Given the description of an element on the screen output the (x, y) to click on. 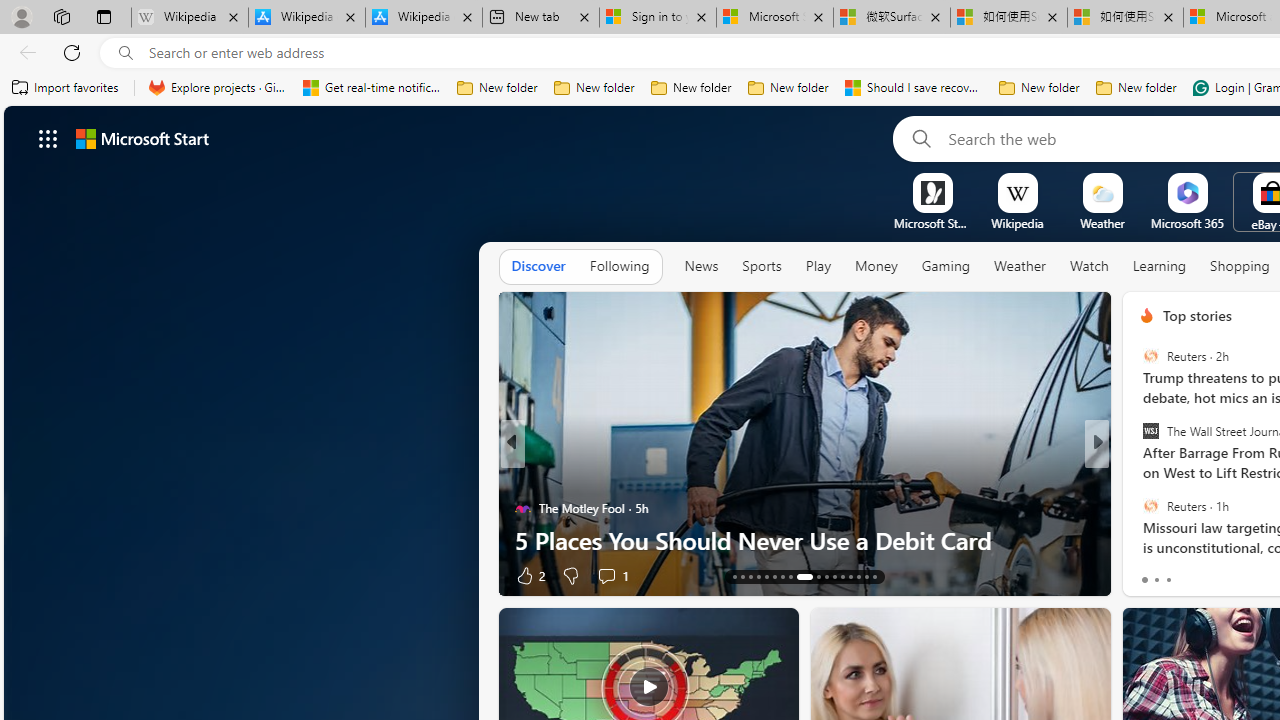
MUO (1138, 507)
Reader's Digest (1138, 475)
Top stories (1196, 315)
Import favorites (65, 88)
News (701, 267)
AutomationID: tab-26 (850, 576)
AutomationID: tab-14 (742, 576)
AutomationID: tab-15 (750, 576)
Reuters (1149, 505)
Gaming (945, 265)
AutomationID: tab-28 (865, 576)
AutomationID: tab-22 (812, 576)
